Given the description of an element on the screen output the (x, y) to click on. 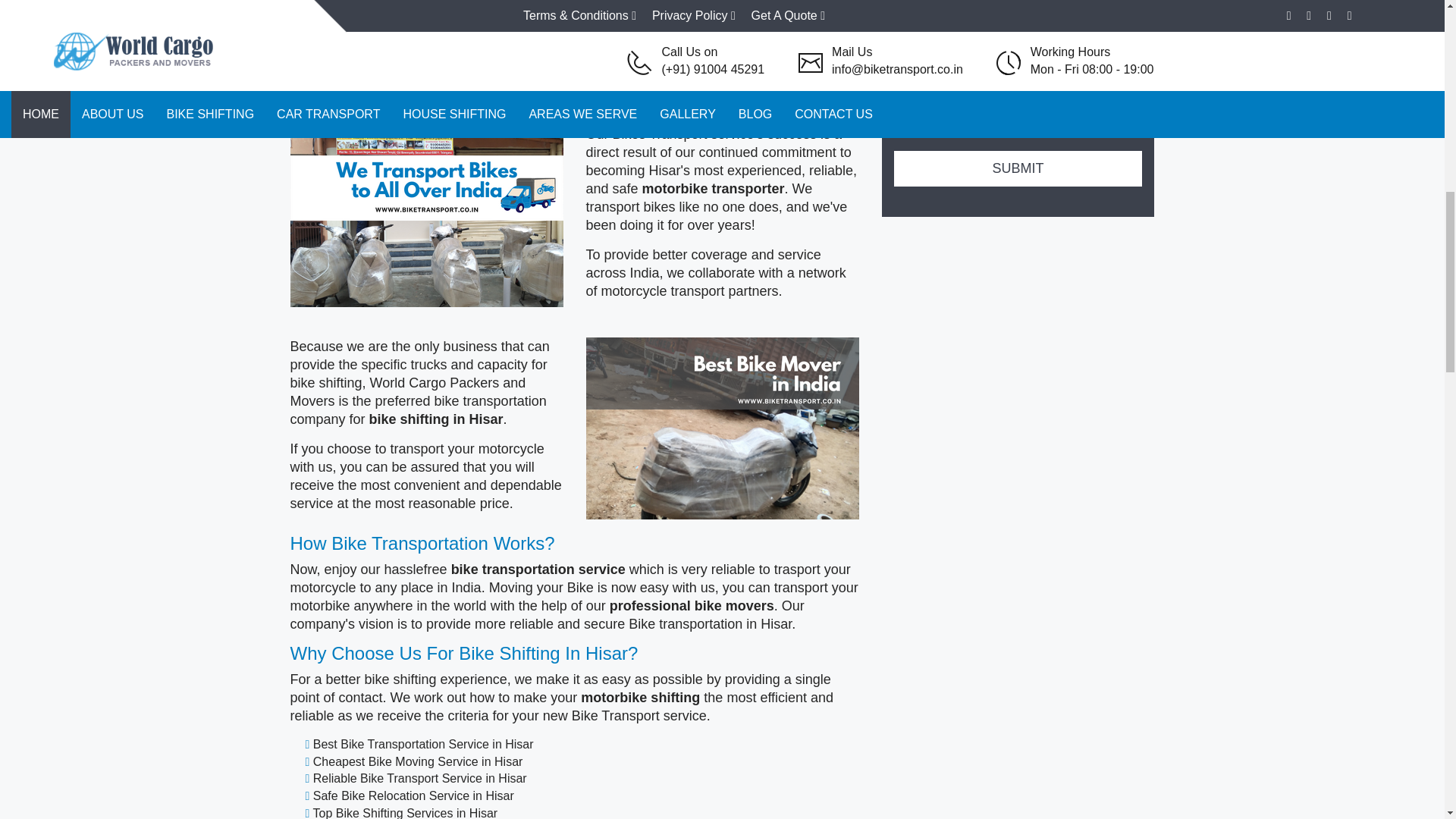
SUBMIT (1017, 167)
